Given the description of an element on the screen output the (x, y) to click on. 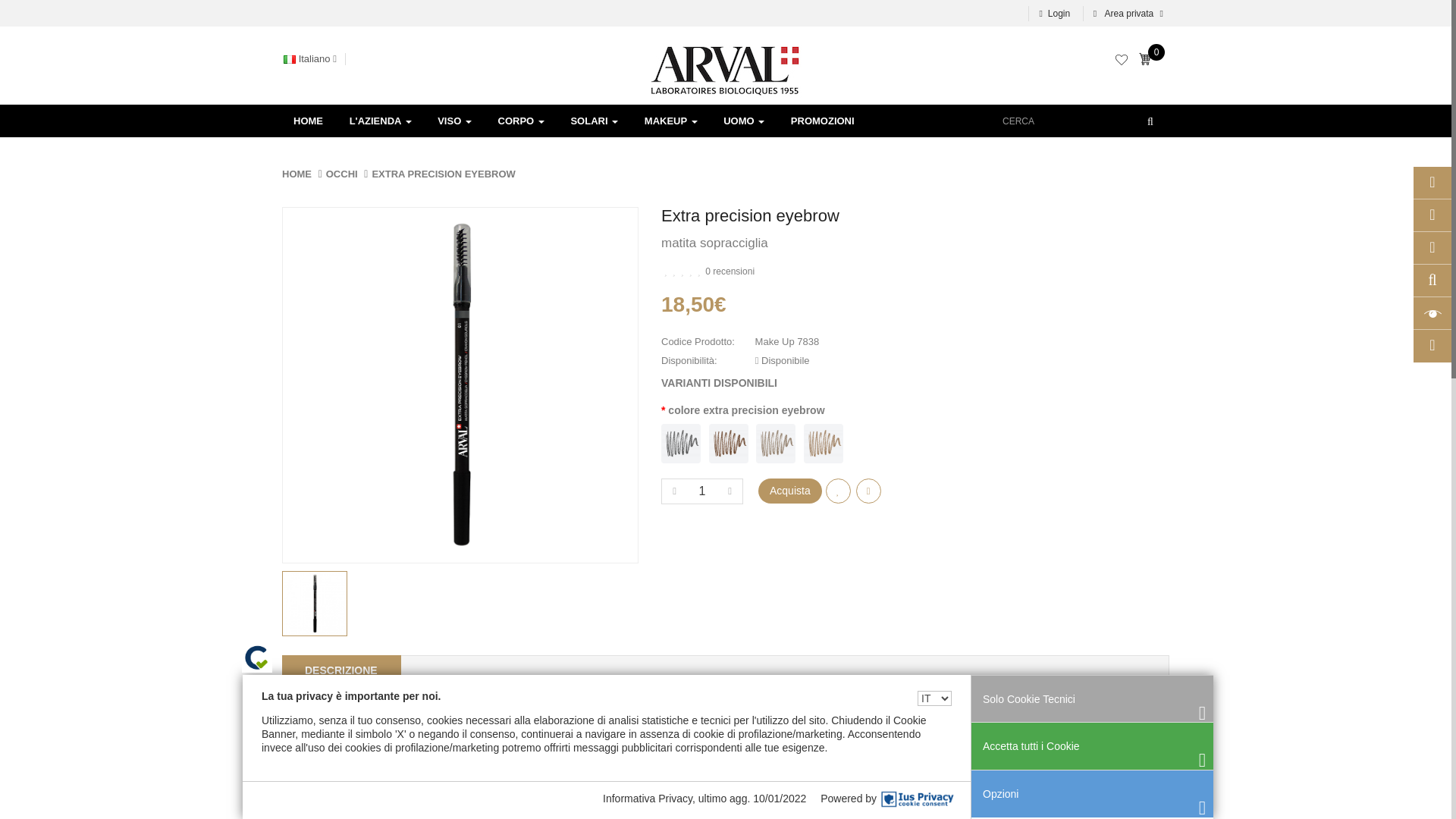
Page 8 (725, 764)
Acquista (790, 490)
Extra precision eyebrow (314, 603)
Area privata (1126, 13)
L'AZIENDA (380, 120)
HOME (308, 120)
Extra precision eyebrow (459, 385)
Login (1054, 13)
Extra precision eyebrow (314, 603)
0 (1147, 60)
1 (702, 491)
Italiano  (314, 58)
VISO (454, 120)
Italiano (289, 59)
